Given the description of an element on the screen output the (x, y) to click on. 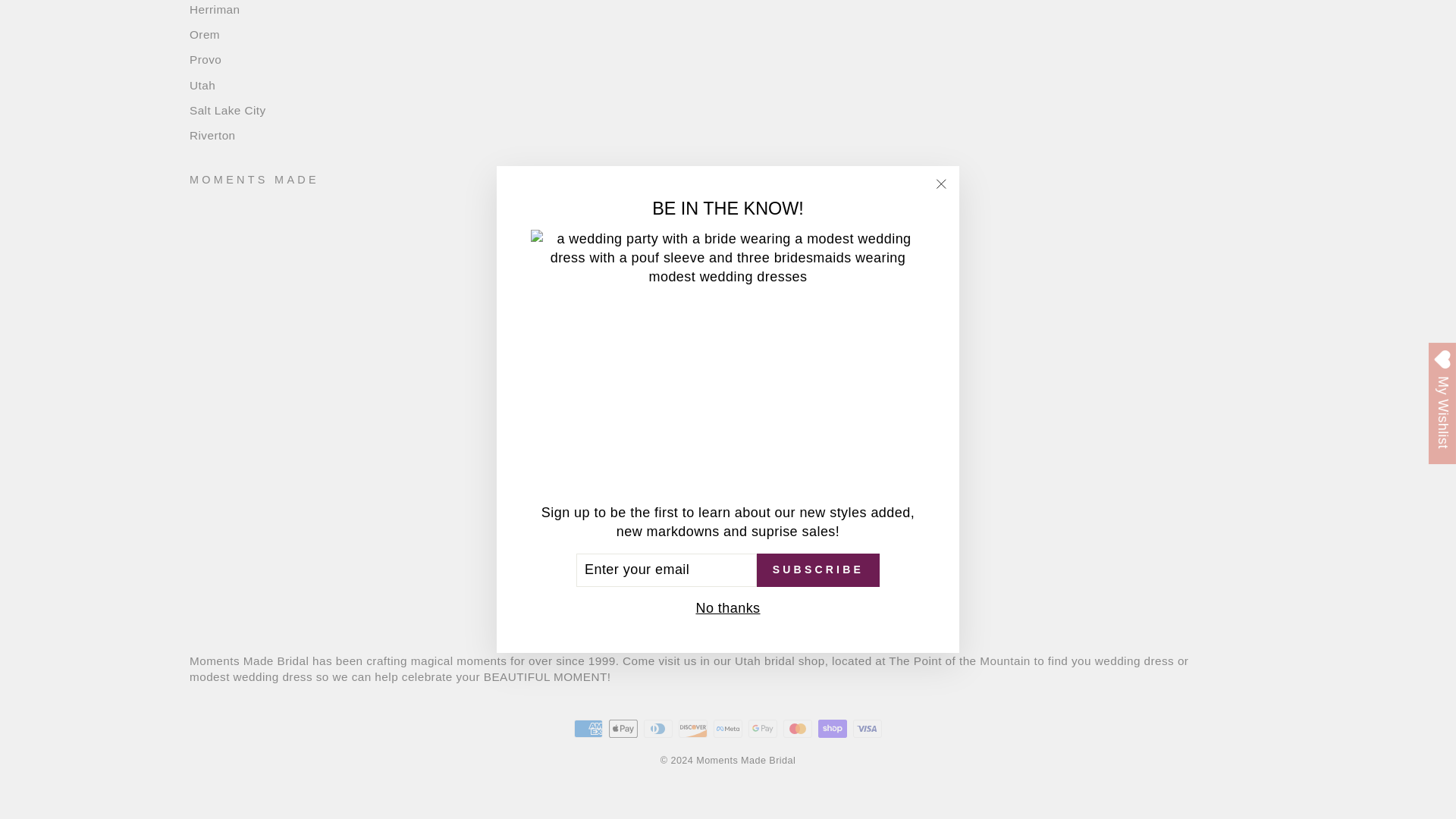
Apple Pay (622, 728)
Visa (867, 728)
Meta Pay (727, 728)
Mastercard (797, 728)
American Express (587, 728)
Diners Club (657, 728)
Shop Pay (832, 728)
Discover (692, 728)
Google Pay (762, 728)
